Given the description of an element on the screen output the (x, y) to click on. 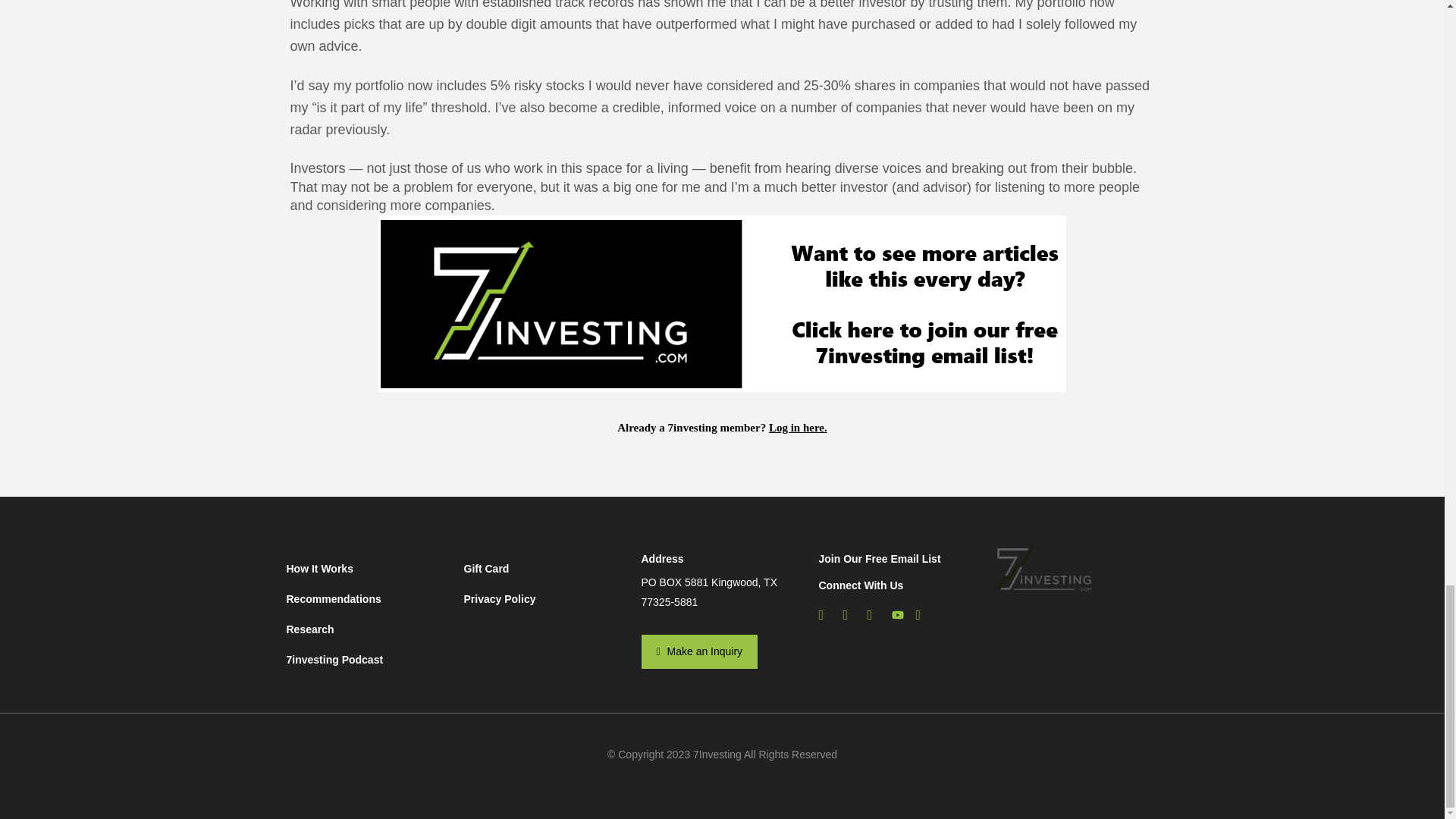
Log in here. (797, 427)
Gift Card (545, 572)
7investing Podcast (367, 659)
Join Our Free Email List (879, 558)
Recommendations (367, 598)
Make an Inquiry (700, 651)
Research (367, 629)
How It Works (367, 572)
Privacy Policy (545, 598)
